Given the description of an element on the screen output the (x, y) to click on. 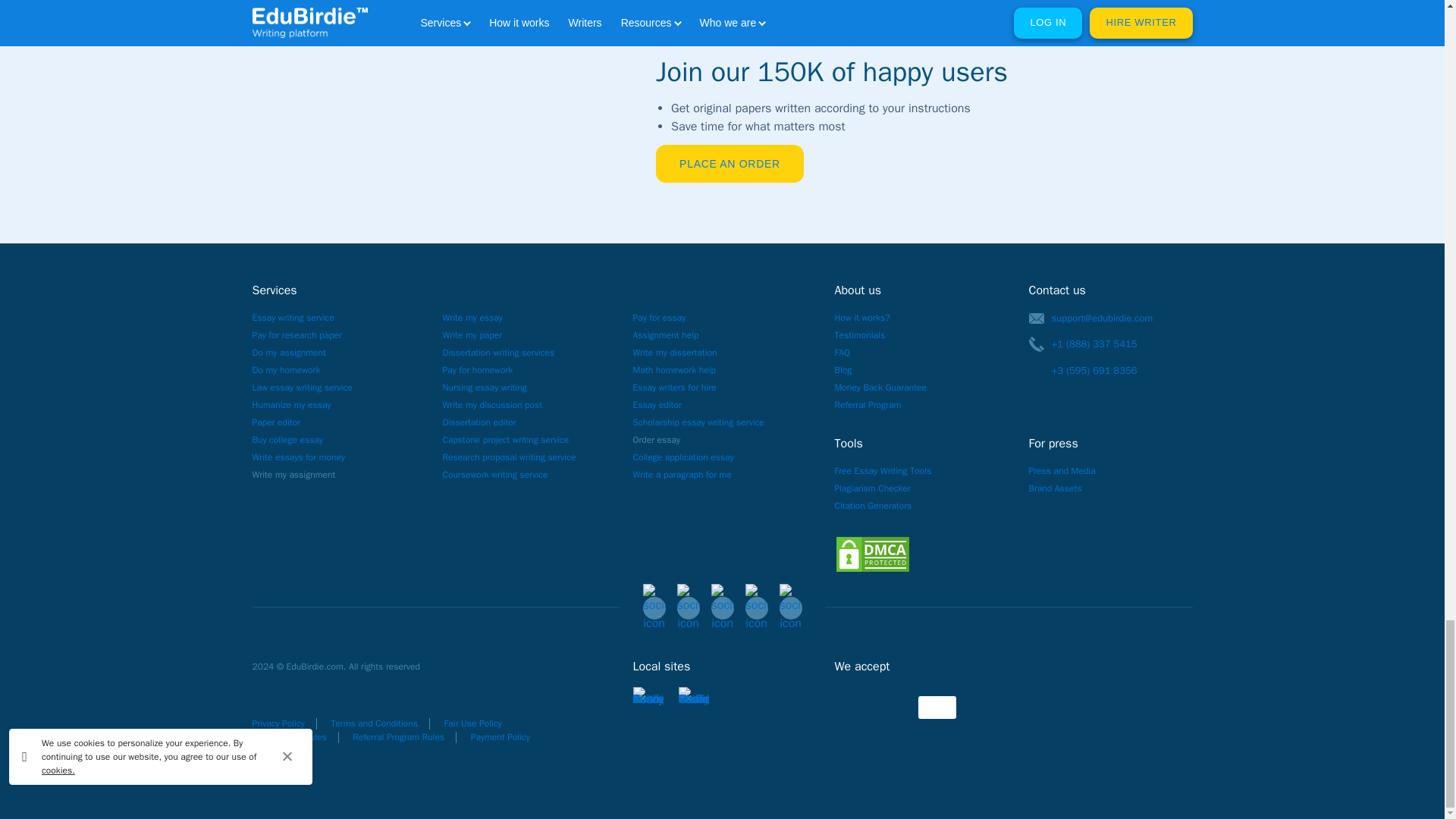
DMCA.com Protection Status (872, 554)
